Given the description of an element on the screen output the (x, y) to click on. 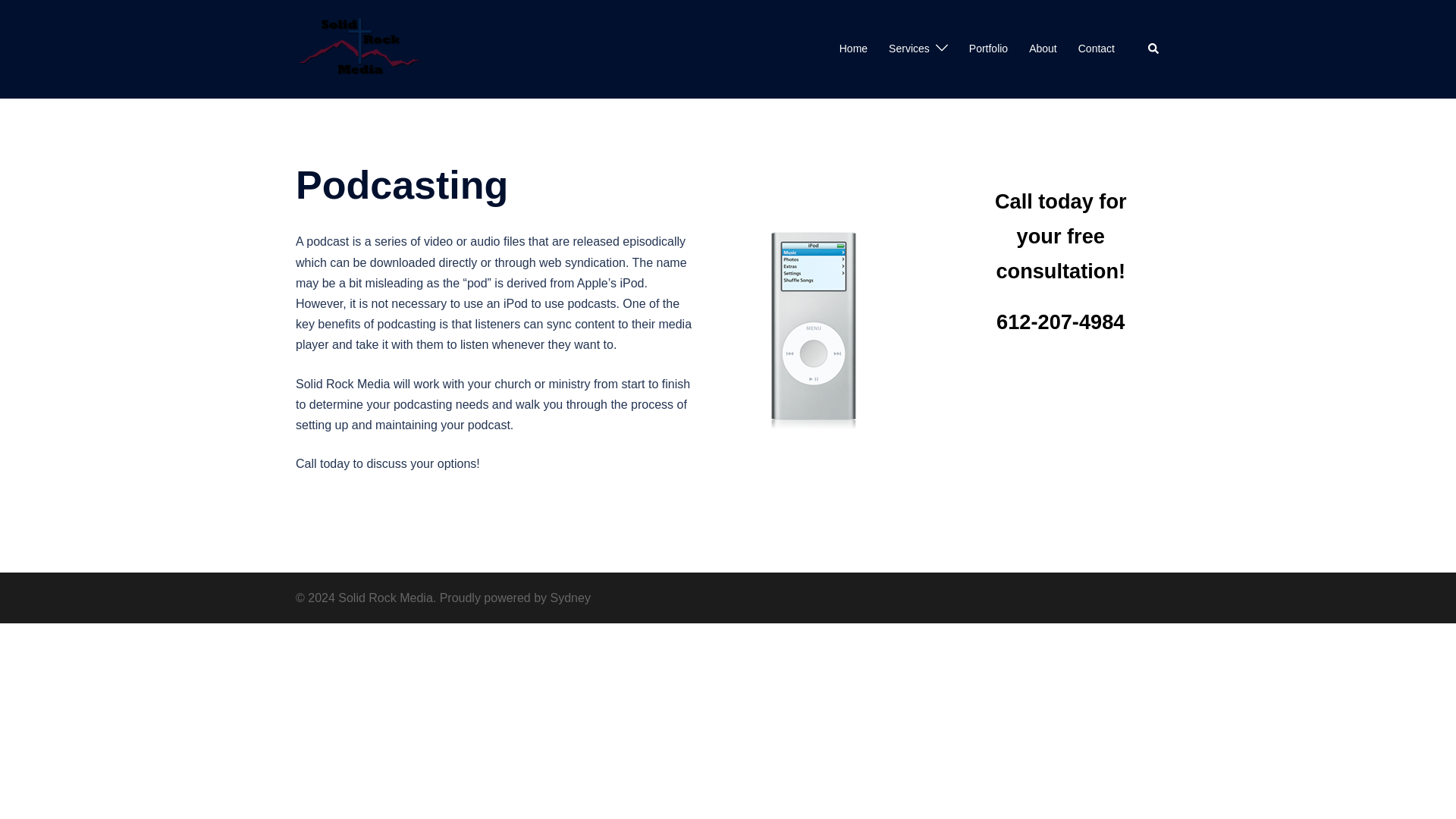
Services (909, 49)
iPod (813, 329)
Sydney (570, 597)
Contact (1096, 49)
Search (1154, 49)
Solid Rock Media (359, 47)
Home (853, 49)
Portfolio (988, 49)
About (1043, 49)
